Given the description of an element on the screen output the (x, y) to click on. 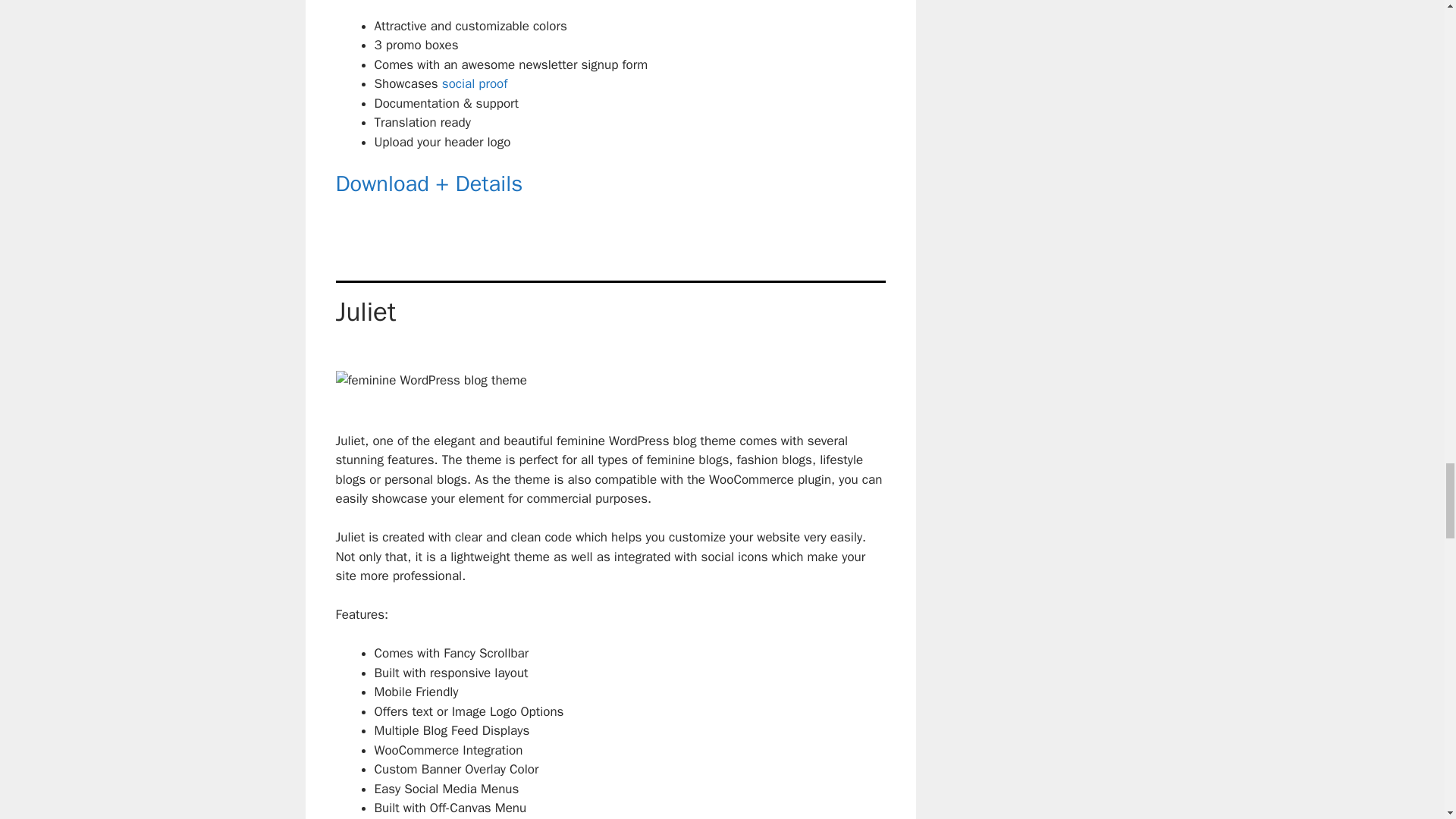
social proof (475, 83)
